Given the description of an element on the screen output the (x, y) to click on. 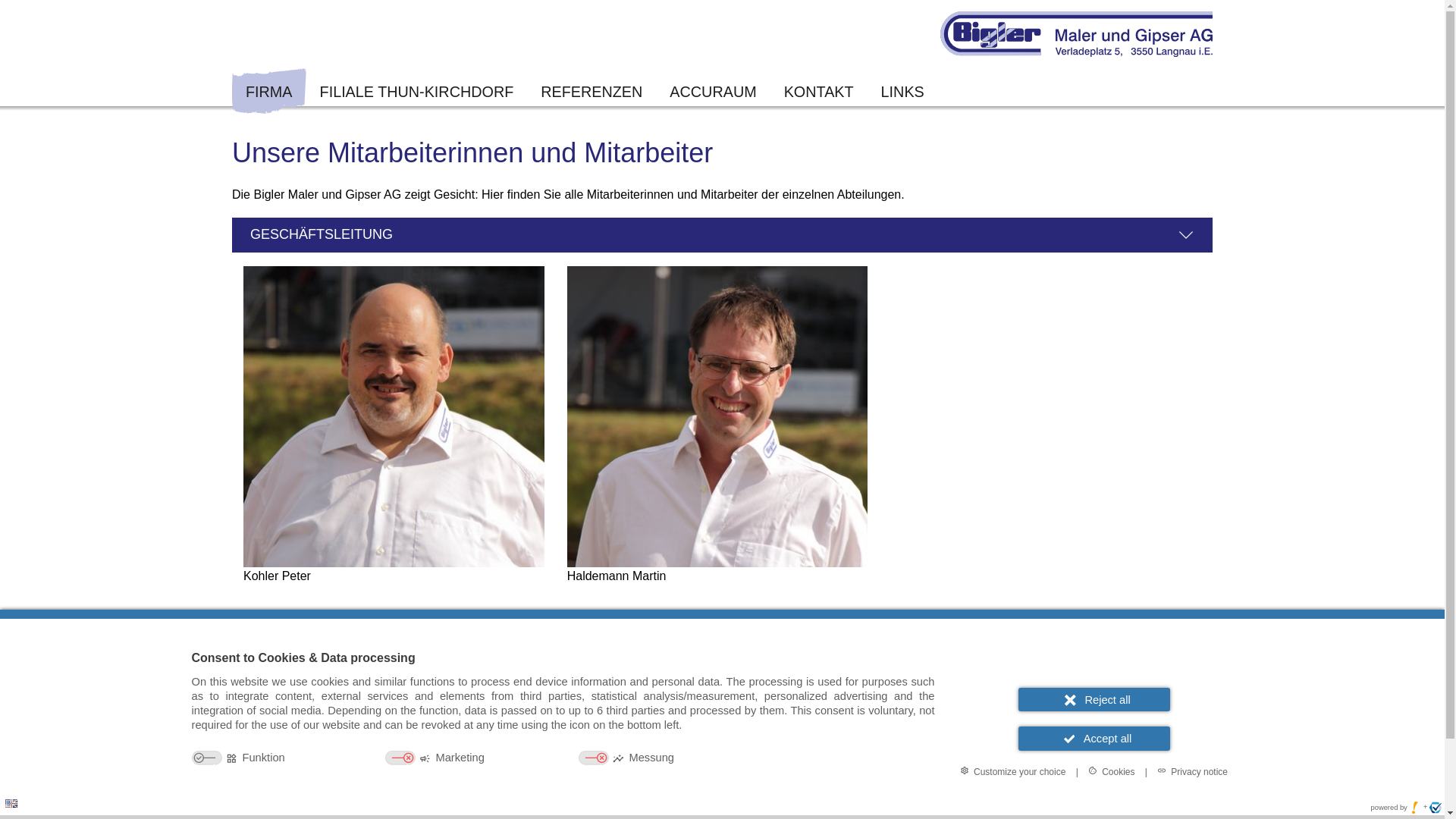
Cookies Element type: text (1111, 771)
Language: en Element type: hover (11, 803)
MALEREI Element type: text (722, 639)
Language: en Element type: hover (11, 802)
FIRMA Element type: text (268, 91)
REFERENZEN Element type: text (591, 91)
GIPSEREI Element type: text (722, 683)
Privacy notice Element type: text (1192, 771)
FILIALE THUN-KIRCHDORF Element type: text (417, 91)
LINKS Element type: text (902, 91)
KONTAKT Element type: text (818, 91)
ADMINISTRATION Element type: text (722, 728)
Privacy settings Element type: hover (17, 801)
Customize your choice Element type: text (1012, 771)
ACCURAUM Element type: text (712, 91)
Reject all Element type: text (1093, 699)
Accept all Element type: text (1093, 737)
Impressum & Datenschutz Element type: text (1036, 790)
